Given the description of an element on the screen output the (x, y) to click on. 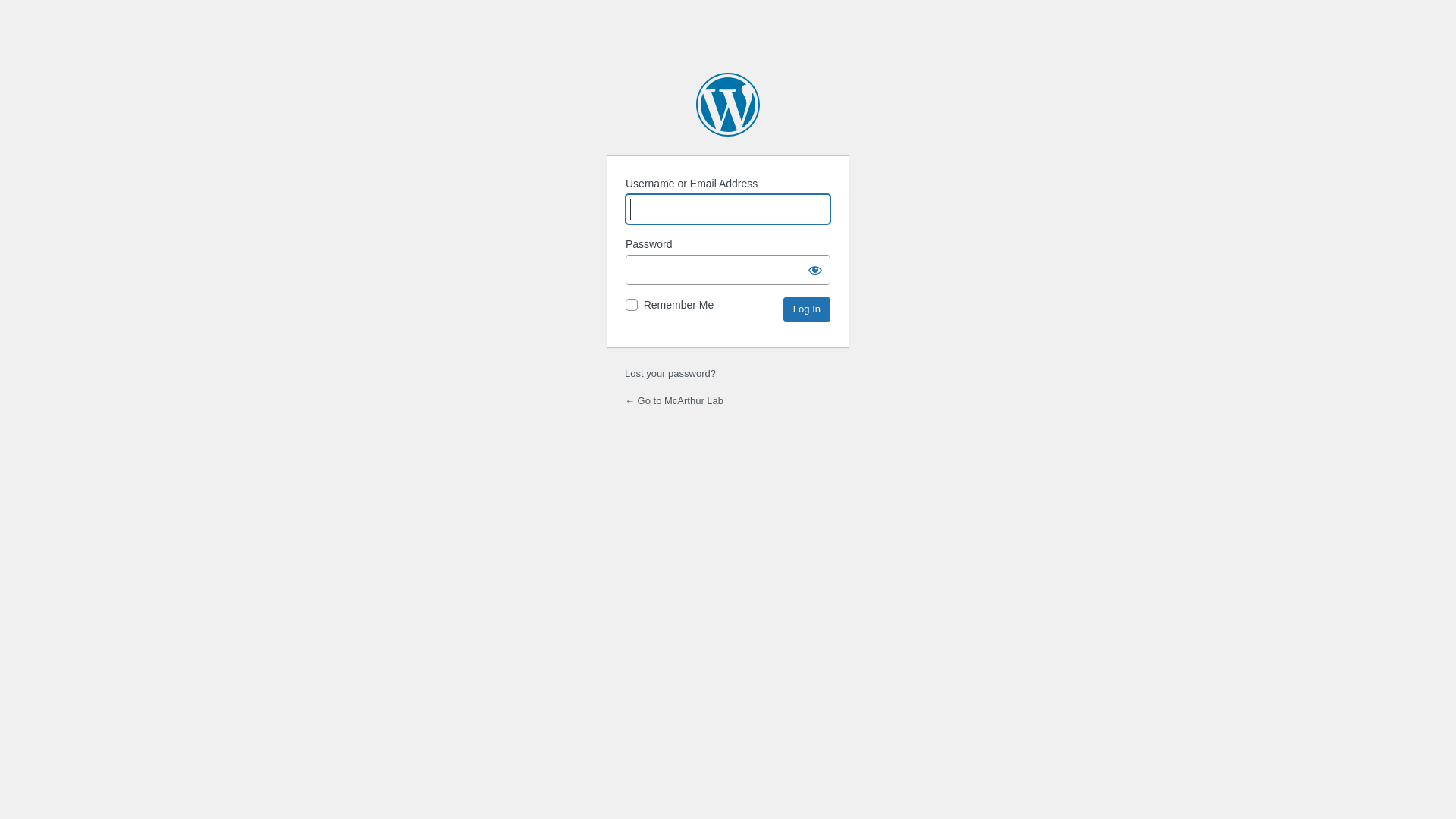
Log In Element type: text (806, 309)
Lost your password? Element type: text (669, 373)
Powered by WordPress Element type: text (727, 104)
